Given the description of an element on the screen output the (x, y) to click on. 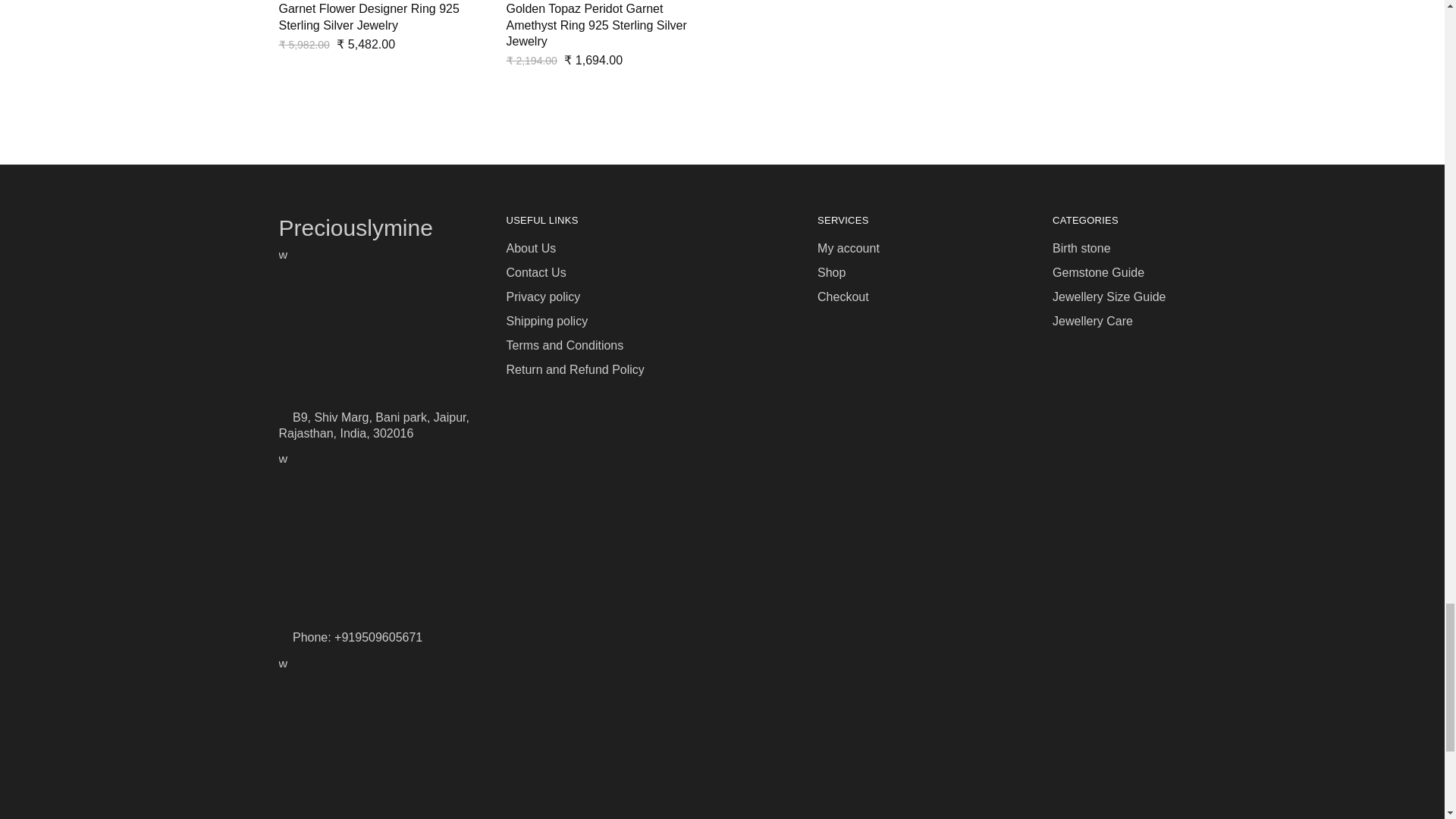
wd-envelope-dark (284, 661)
wd-cursor-dark (284, 253)
wd-phone-dark (284, 457)
